Given the description of an element on the screen output the (x, y) to click on. 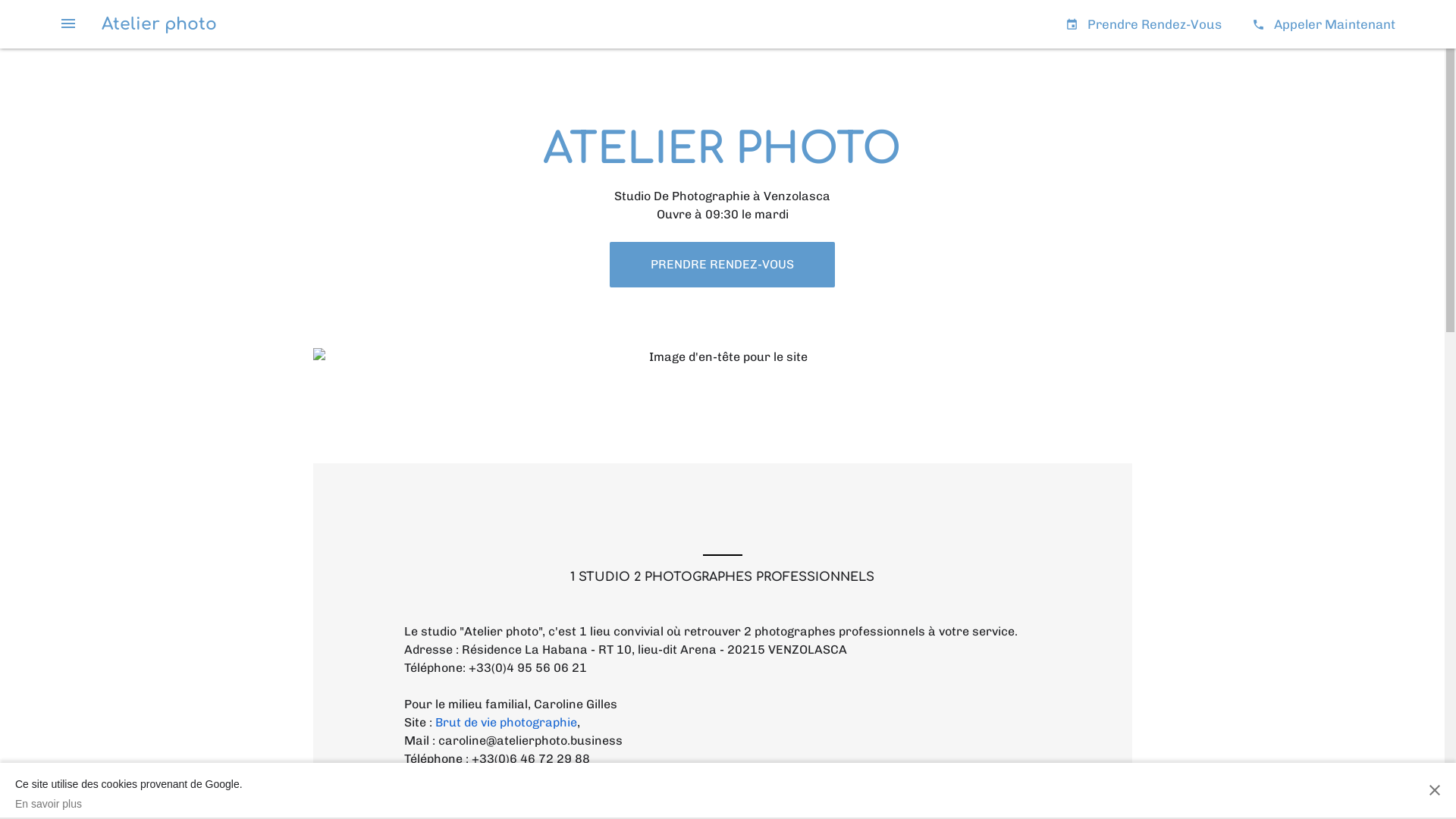
PRENDRE RENDEZ-VOUS Element type: text (721, 264)
En savoir plus Element type: text (128, 803)
Atelier photo Element type: text (158, 24)
Brut de vie photographie Element type: text (506, 722)
